Given the description of an element on the screen output the (x, y) to click on. 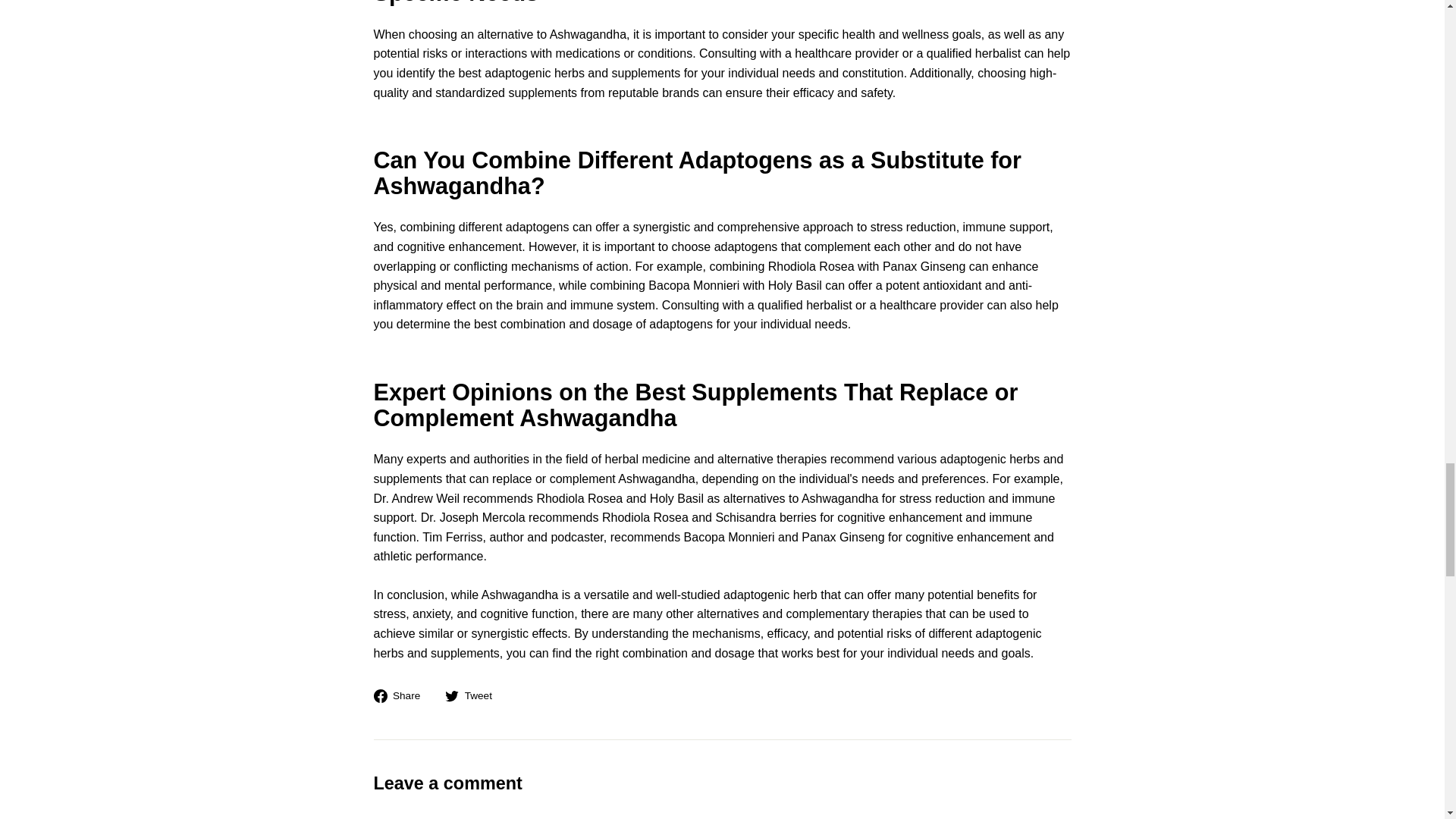
twitter (451, 695)
Share on Facebook (401, 695)
Tweet on Twitter (474, 695)
